Given the description of an element on the screen output the (x, y) to click on. 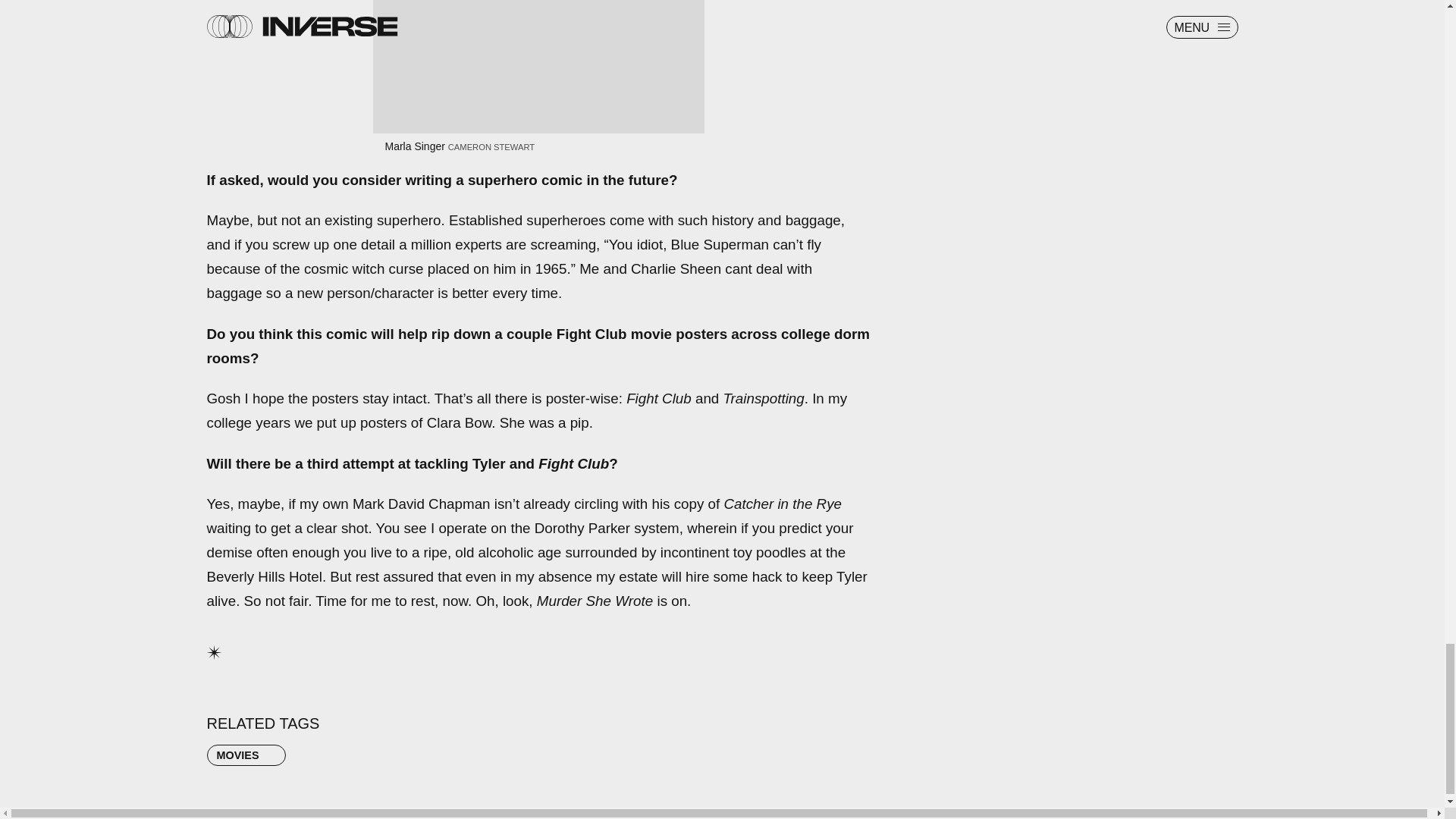
MOVIES (245, 754)
